Given the description of an element on the screen output the (x, y) to click on. 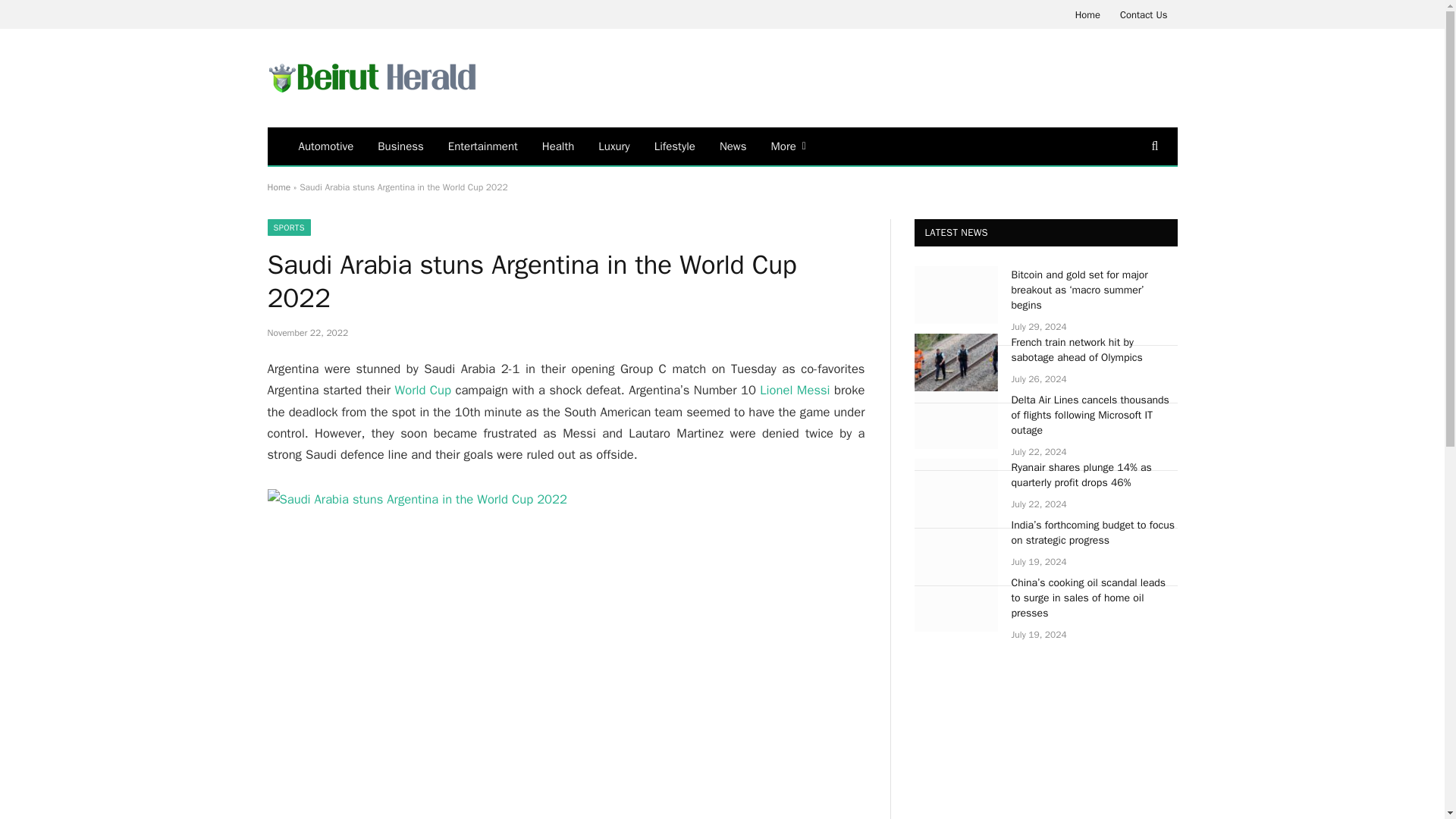
Home (277, 186)
More (788, 146)
Lionel Messi (794, 390)
Entertainment (482, 146)
Contact Us (1143, 14)
Automotive (326, 146)
Health (557, 146)
Beirut Herald (371, 78)
Lifestyle (674, 146)
Business (400, 146)
Luxury (614, 146)
News (732, 146)
World Cup (422, 390)
Home (1087, 14)
SPORTS (288, 227)
